Given the description of an element on the screen output the (x, y) to click on. 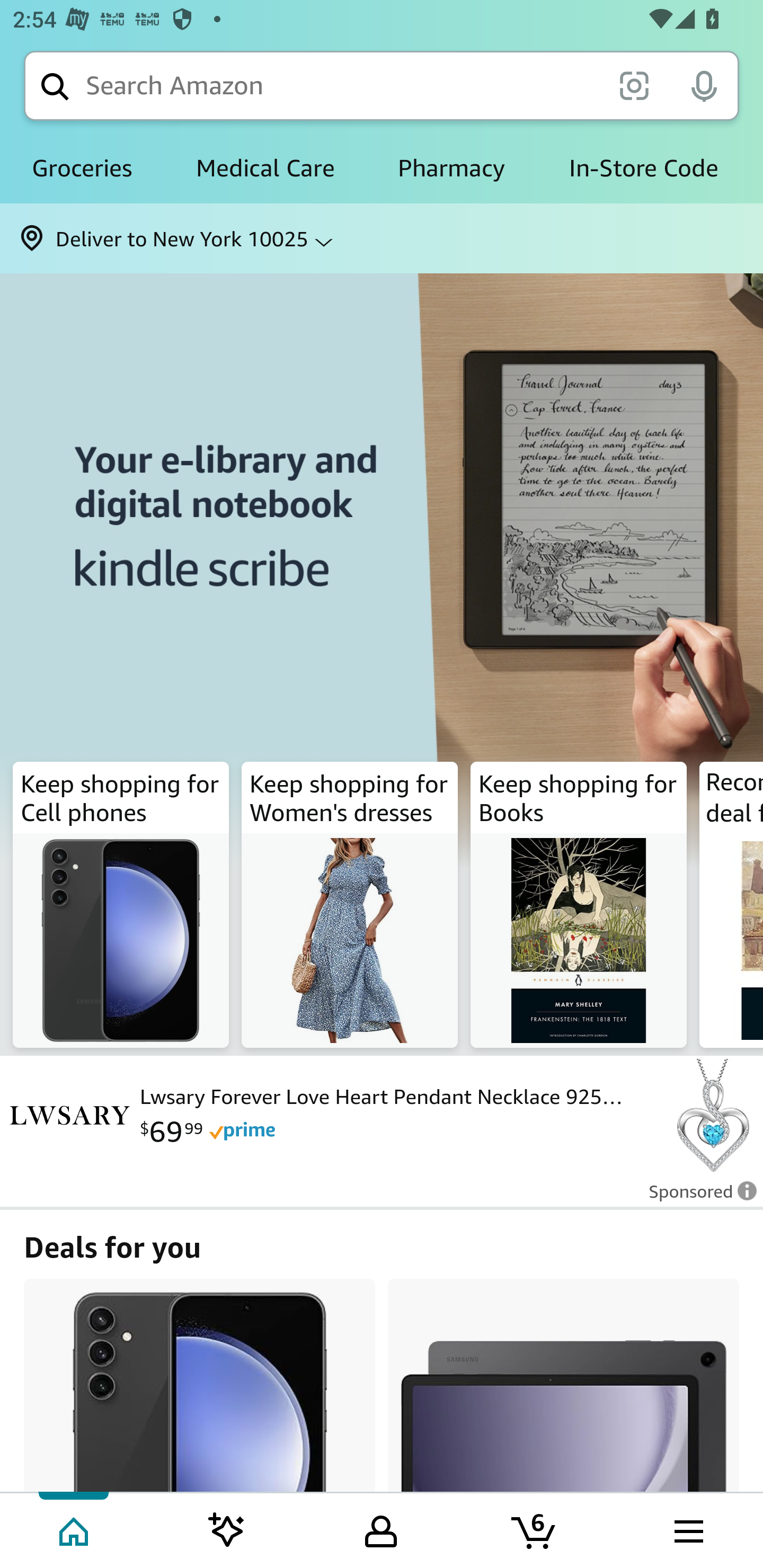
scan it (633, 85)
Groceries (82, 168)
Medical Care (265, 168)
Pharmacy (451, 168)
In-Store Code (643, 168)
Deliver to New York 10025 ⌵ (381, 237)
Keep shopping for Books Keep shopping for Books (578, 904)
Leave feedback on Sponsored ad Sponsored  (696, 1196)
Home Tab 1 of 5 (75, 1529)
Inspire feed Tab 2 of 5 (227, 1529)
Your Amazon.com Tab 3 of 5 (380, 1529)
Cart 6 items Tab 4 of 5 6 (534, 1529)
Browse menu Tab 5 of 5 (687, 1529)
